Given the description of an element on the screen output the (x, y) to click on. 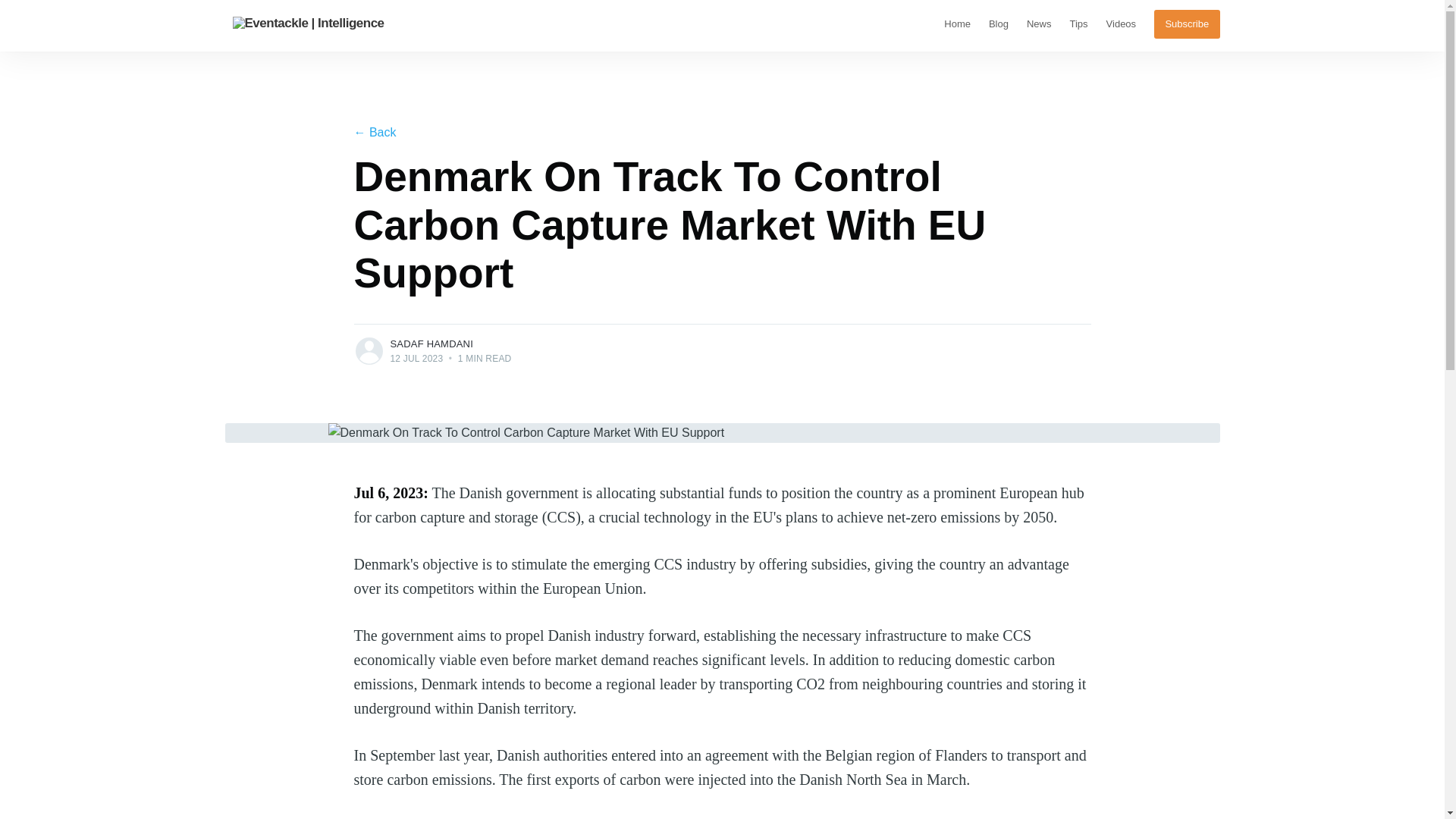
SADAF HAMDANI (431, 343)
Blog (998, 24)
Tips (1077, 24)
Home (956, 24)
Videos (1121, 24)
Subscribe (1187, 23)
News (1039, 24)
